Given the description of an element on the screen output the (x, y) to click on. 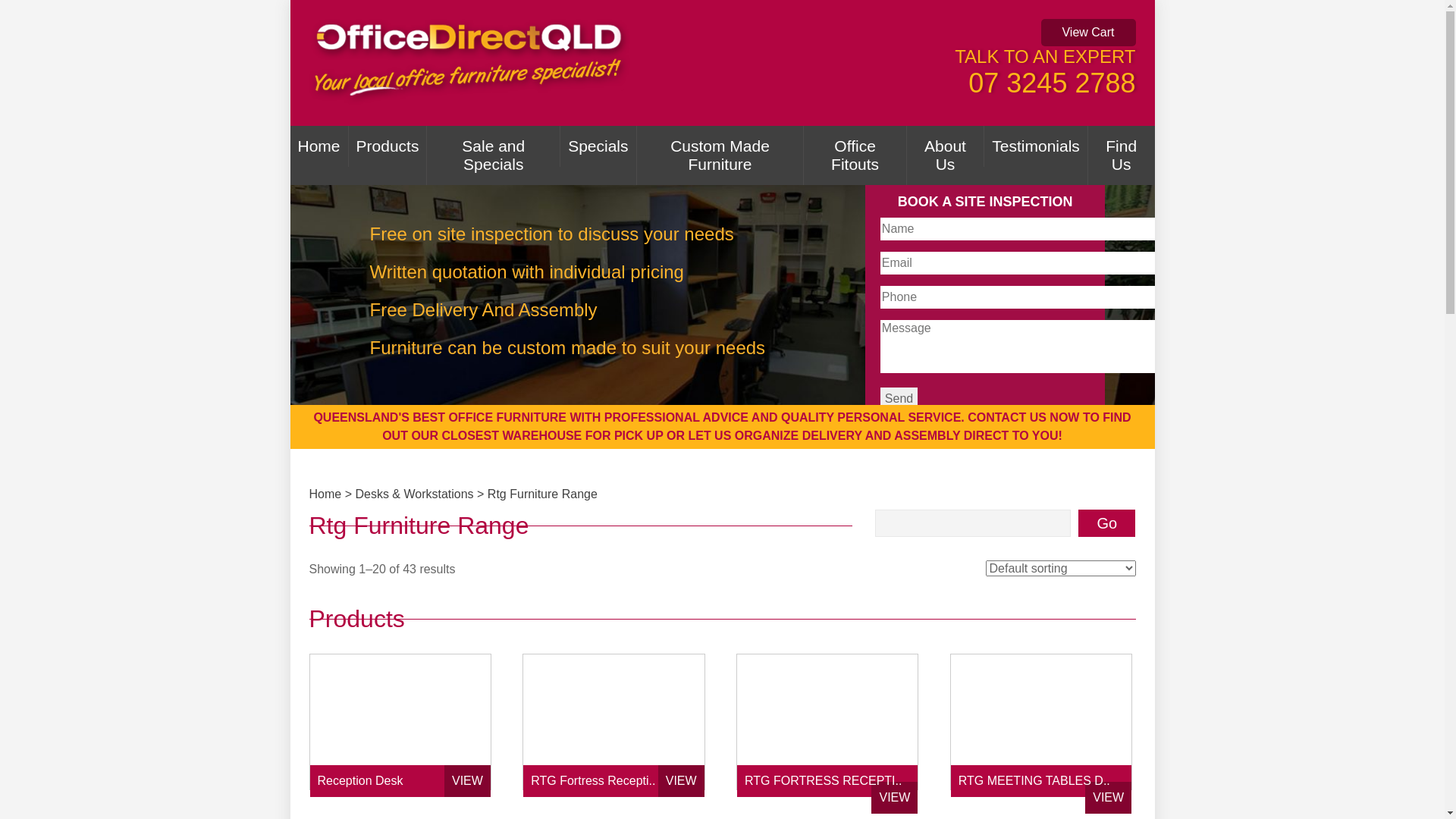
Sale and Specials Element type: text (492, 155)
View Cart Element type: text (1087, 32)
Office Fitouts Element type: text (854, 155)
Desks & Workstations Element type: text (413, 493)
Find Us Element type: text (1120, 155)
Products Element type: text (387, 145)
RTG FORTRESS RECEPTI..
VIEW Element type: text (827, 725)
Home Element type: text (318, 145)
Go Element type: text (1106, 522)
Testimonials Element type: text (1035, 145)
Send Element type: text (898, 398)
RTG MEETING TABLES D..
VIEW Element type: text (1040, 725)
Home Element type: text (325, 493)
Custom Made Furniture Element type: text (719, 155)
RTG Fortress Recepti..
VIEW Element type: text (613, 725)
Reception Desk
VIEW Element type: text (399, 725)
About Us Element type: text (945, 155)
Specials Element type: text (597, 145)
07 3245 2788 Element type: text (1051, 82)
